Given the description of an element on the screen output the (x, y) to click on. 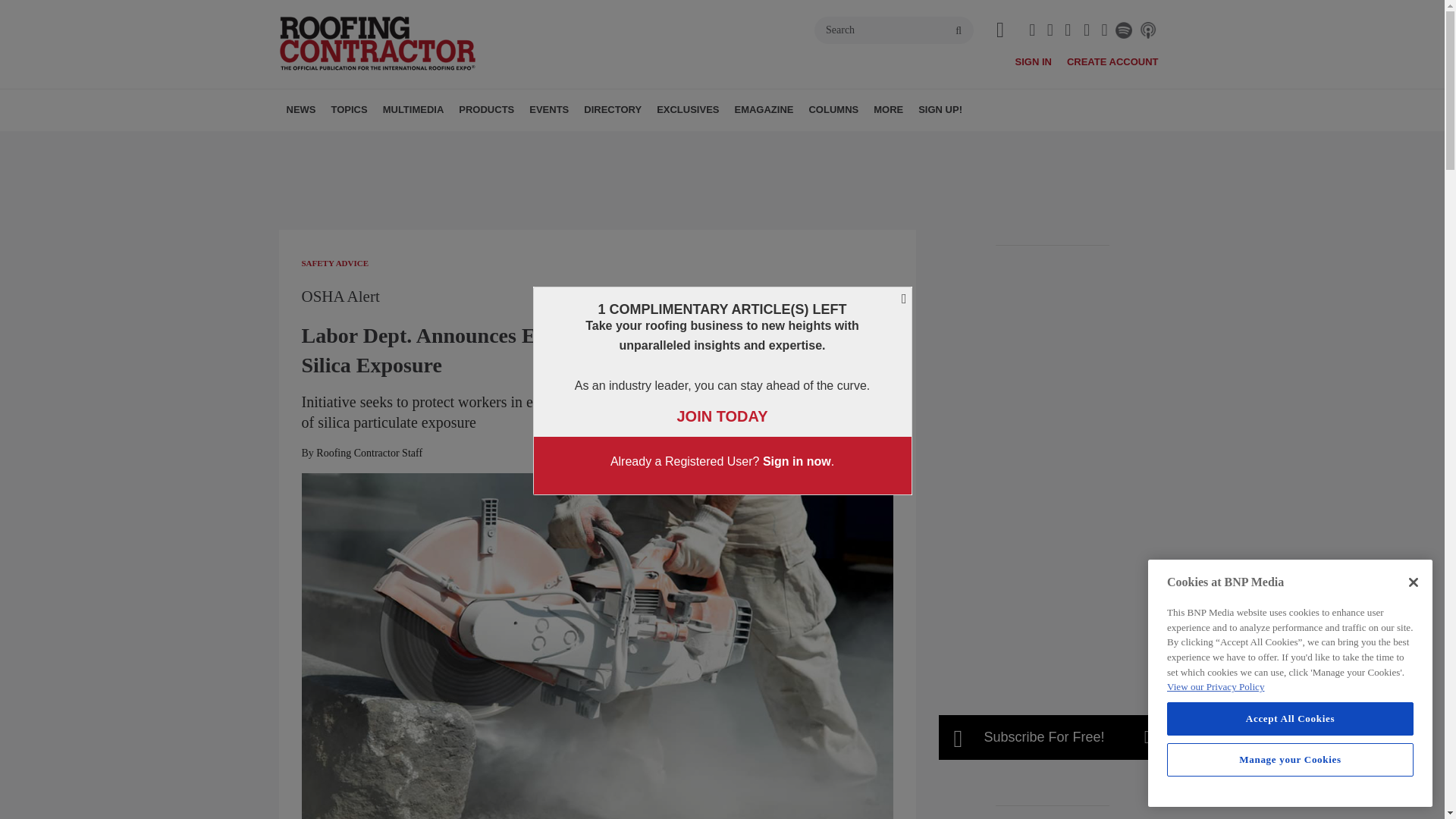
Search (893, 30)
Search (893, 30)
